Given the description of an element on the screen output the (x, y) to click on. 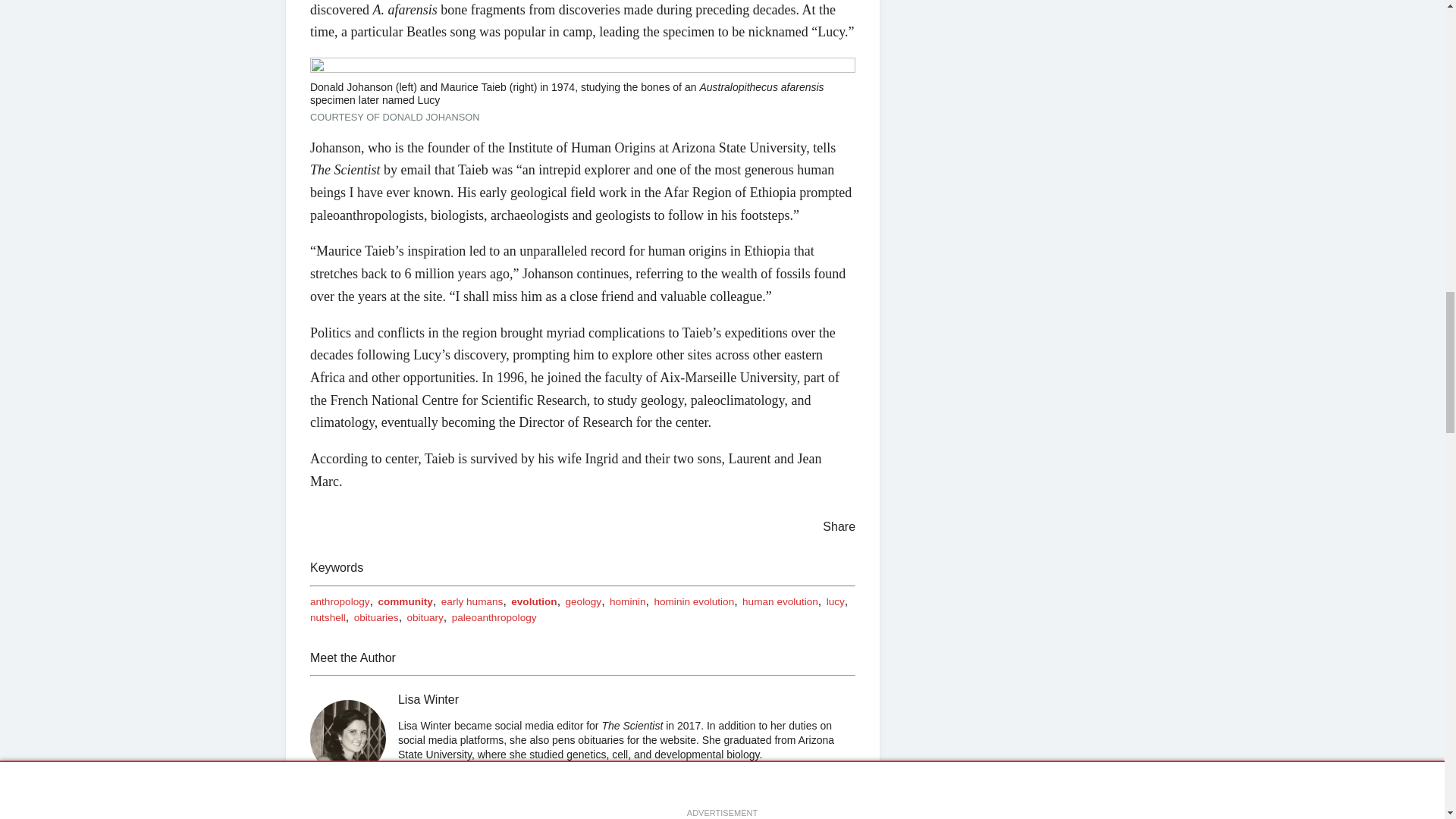
Lisa Winter (347, 737)
